Given the description of an element on the screen output the (x, y) to click on. 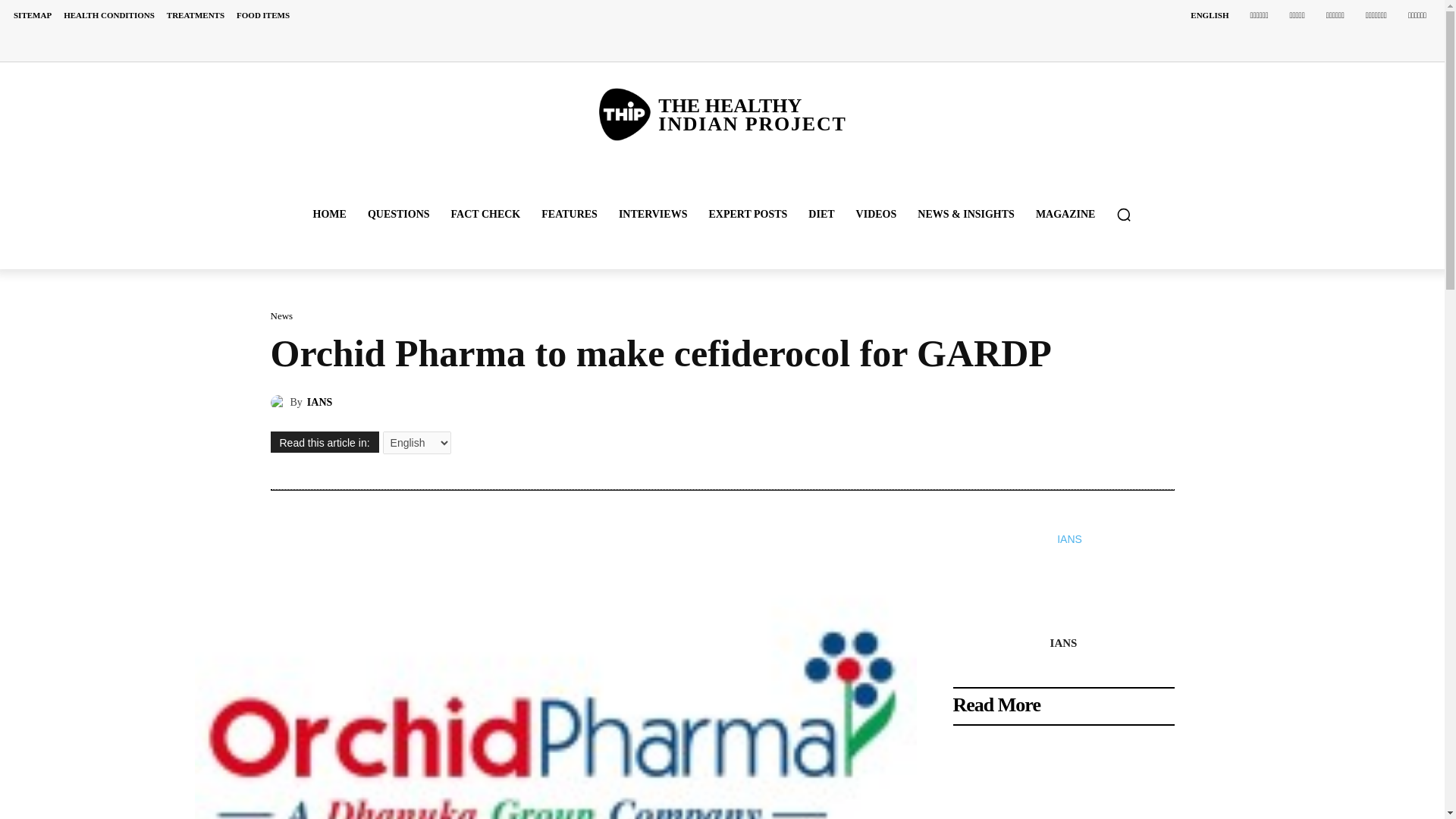
DIET (820, 214)
HEALTH CONDITIONS (109, 15)
VIDEOS (876, 214)
EXPERT POSTS (747, 214)
INTERVIEWS (653, 214)
TREATMENTS (195, 15)
FOOD ITEMS (262, 15)
ENGLISH (1209, 14)
IANS (279, 402)
SITEMAP (32, 15)
FEATURES (569, 214)
QUESTIONS (398, 214)
